Given the description of an element on the screen output the (x, y) to click on. 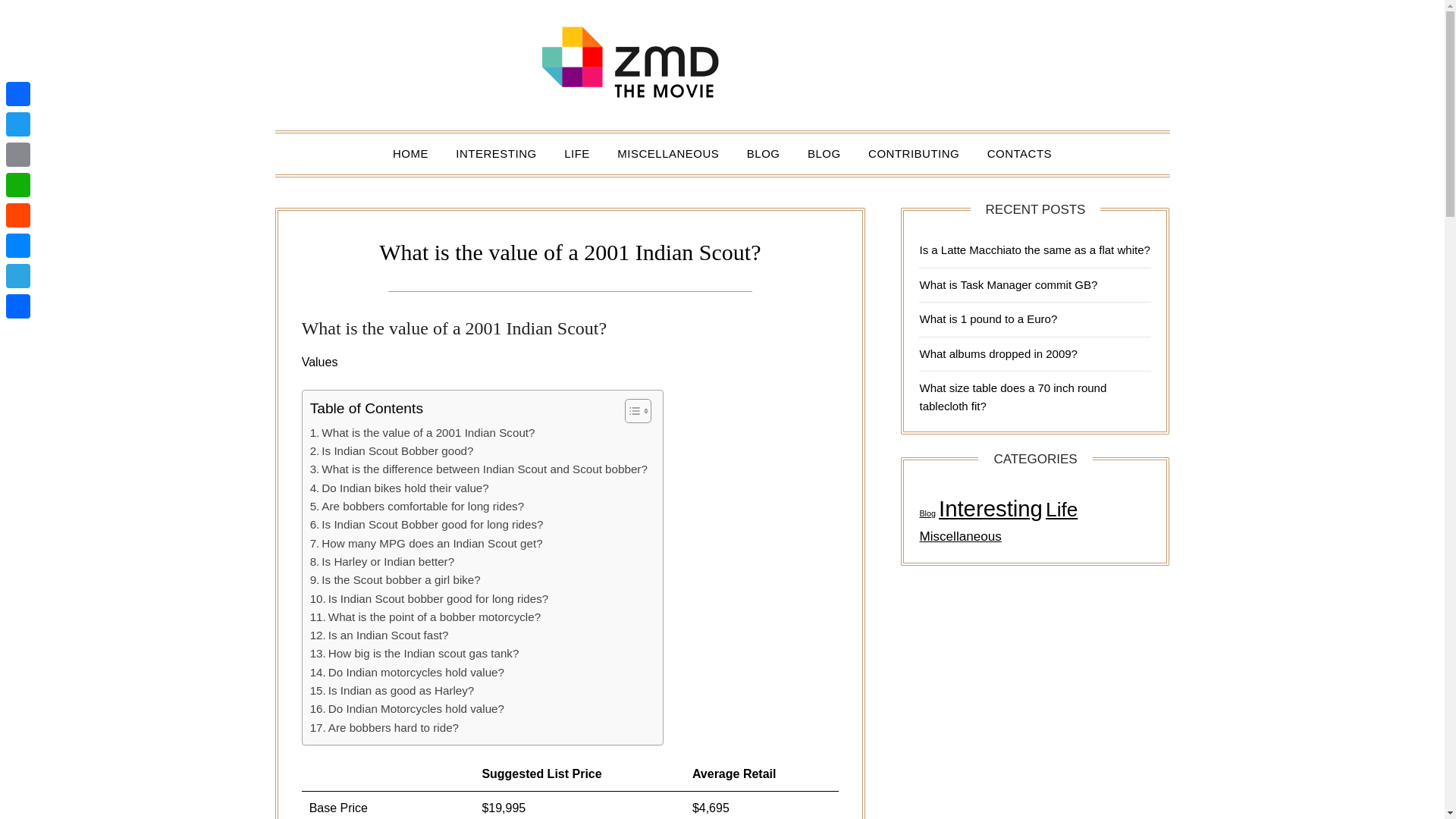
Is the Scout bobber a girl bike? (395, 579)
How big is the Indian scout gas tank? (414, 653)
Is an Indian Scout fast? (379, 635)
Are bobbers hard to ride? (384, 728)
Are bobbers comfortable for long rides? (417, 506)
What is the point of a bobber motorcycle? (425, 617)
Do Indian Motorcycles hold value? (406, 709)
What is the value of a 2001 Indian Scout? (422, 433)
Do Indian Motorcycles hold value? (406, 709)
Is Indian Scout Bobber good for long rides? (426, 524)
What is the value of a 2001 Indian Scout? (422, 433)
Is Indian Scout bobber good for long rides? (429, 598)
How big is the Indian scout gas tank? (414, 653)
Is Indian as good as Harley? (392, 690)
